Given the description of an element on the screen output the (x, y) to click on. 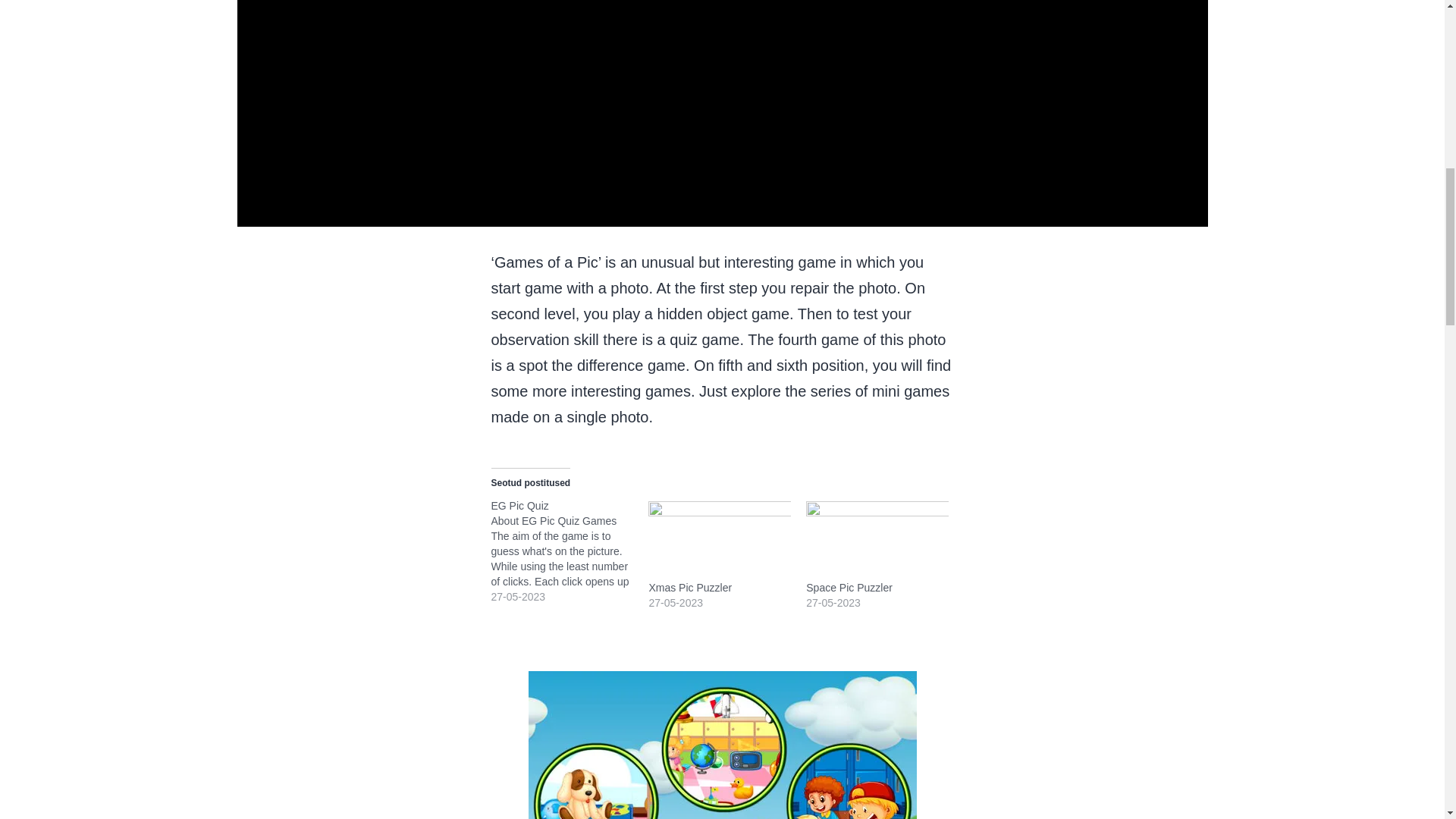
EG Pic Quiz (570, 550)
EG Pic Quiz (520, 505)
Space Pic Puzzler (877, 538)
Space Pic Puzzler (849, 587)
Xmas Pic Puzzler (689, 587)
Xmas Pic Puzzler (689, 587)
EG Pic Quiz (520, 505)
Space Pic Puzzler (849, 587)
Xmas Pic Puzzler (718, 538)
